Given the description of an element on the screen output the (x, y) to click on. 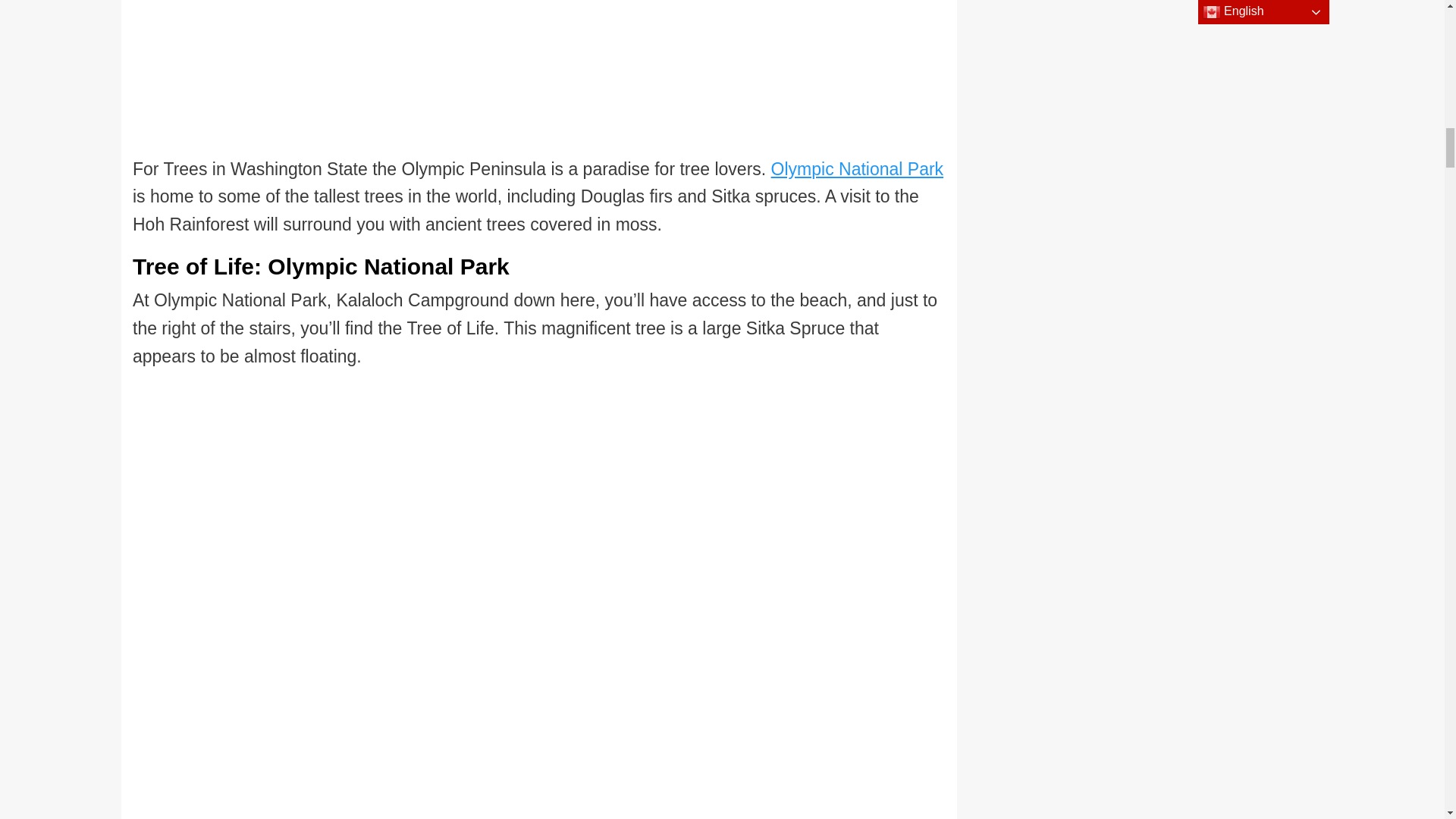
Olympic National Park (857, 168)
Trees in Washington State: Learn How To Identify 3 (499, 77)
